Given the description of an element on the screen output the (x, y) to click on. 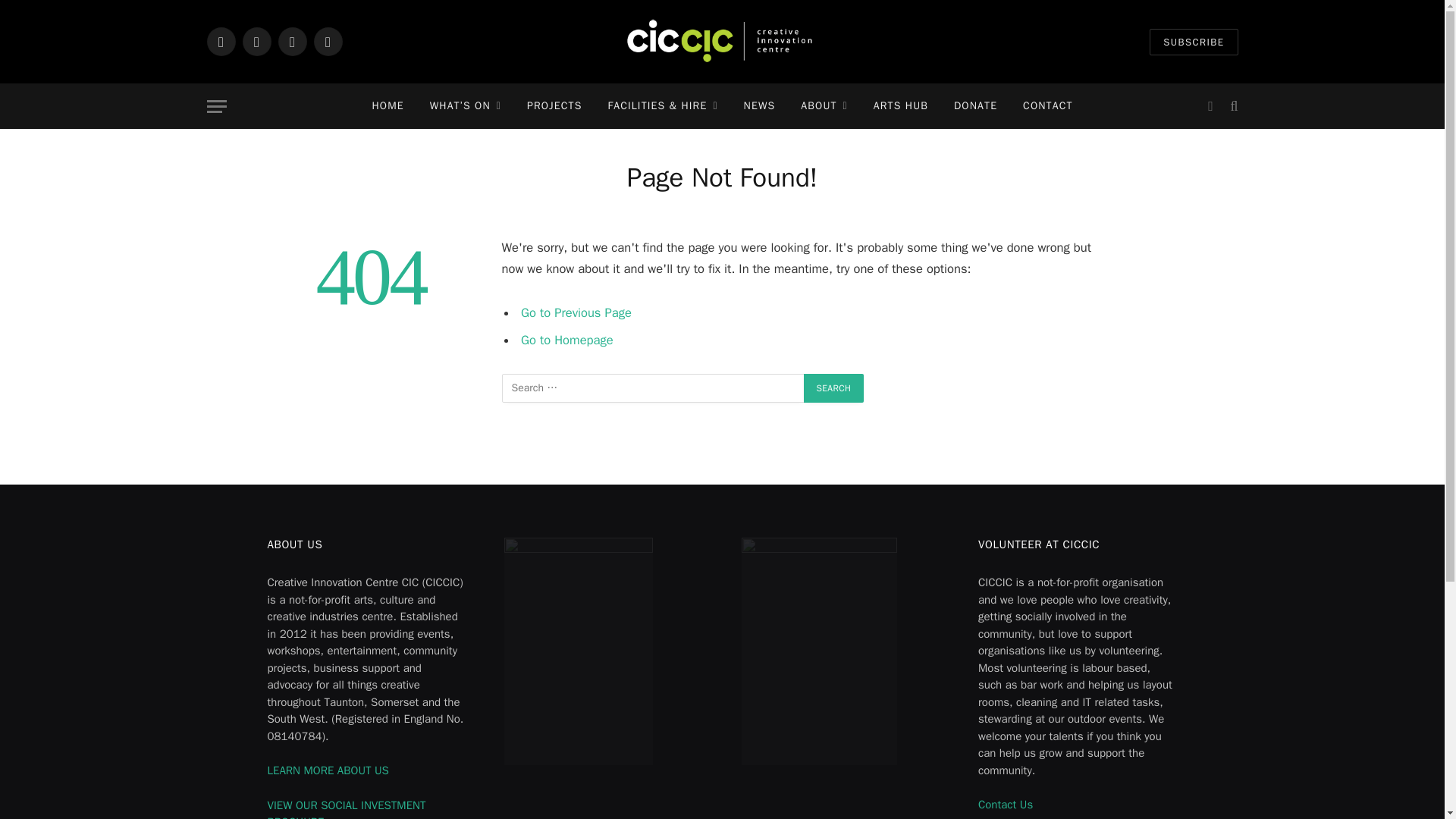
Switch to Dark Design - easier on eyes. (1209, 106)
Search (833, 387)
Search (833, 387)
